Given the description of an element on the screen output the (x, y) to click on. 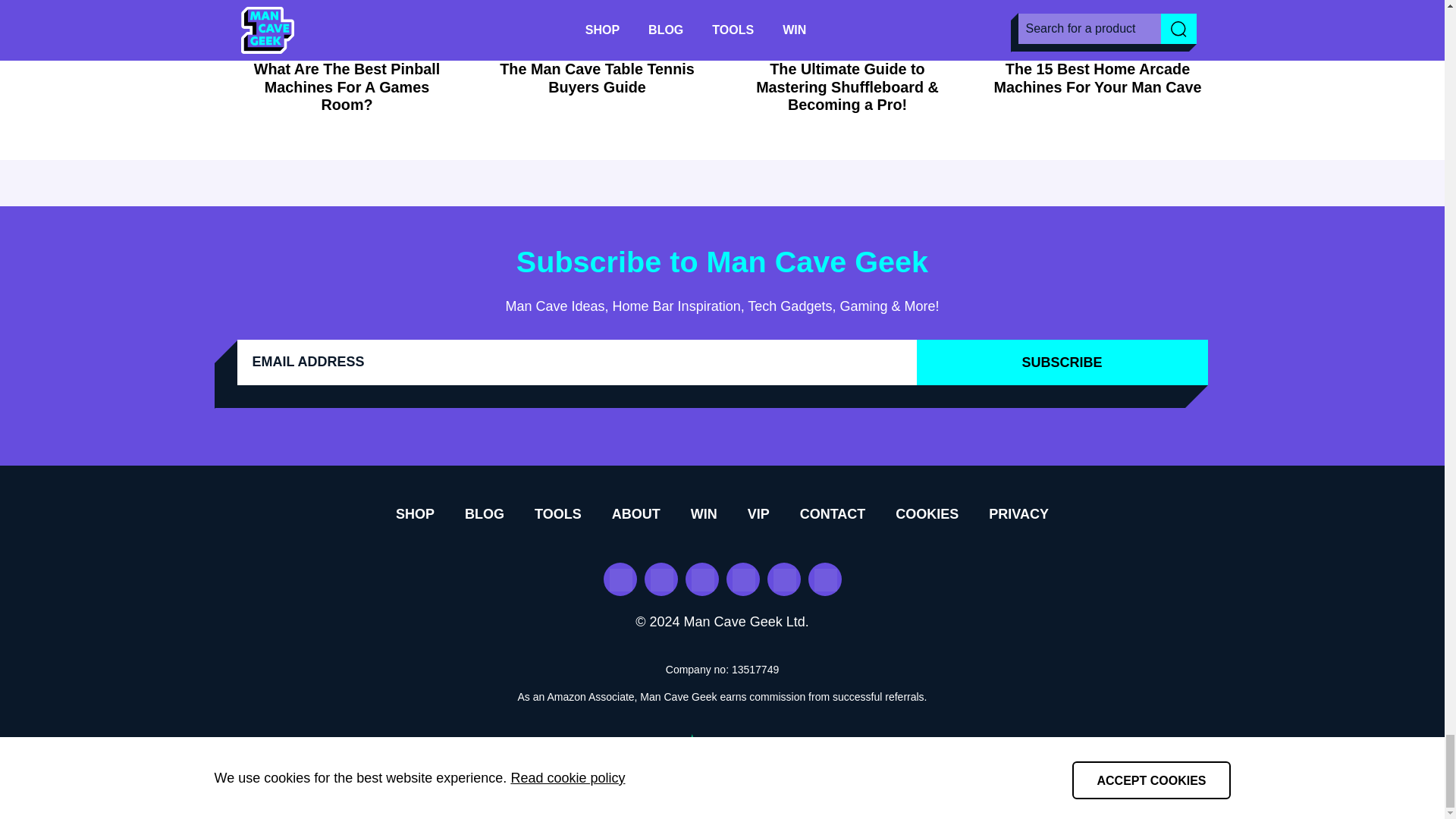
The Man Cave Table Tennis Buyers Guide (596, 24)
Subscribe (1061, 361)
The Man Cave Table Tennis Buyers Guide (596, 78)
What Are The Best Pinball Machines For A Games Room? (346, 24)
What Are The Best Pinball Machines For A Games Room? (346, 87)
